Given the description of an element on the screen output the (x, y) to click on. 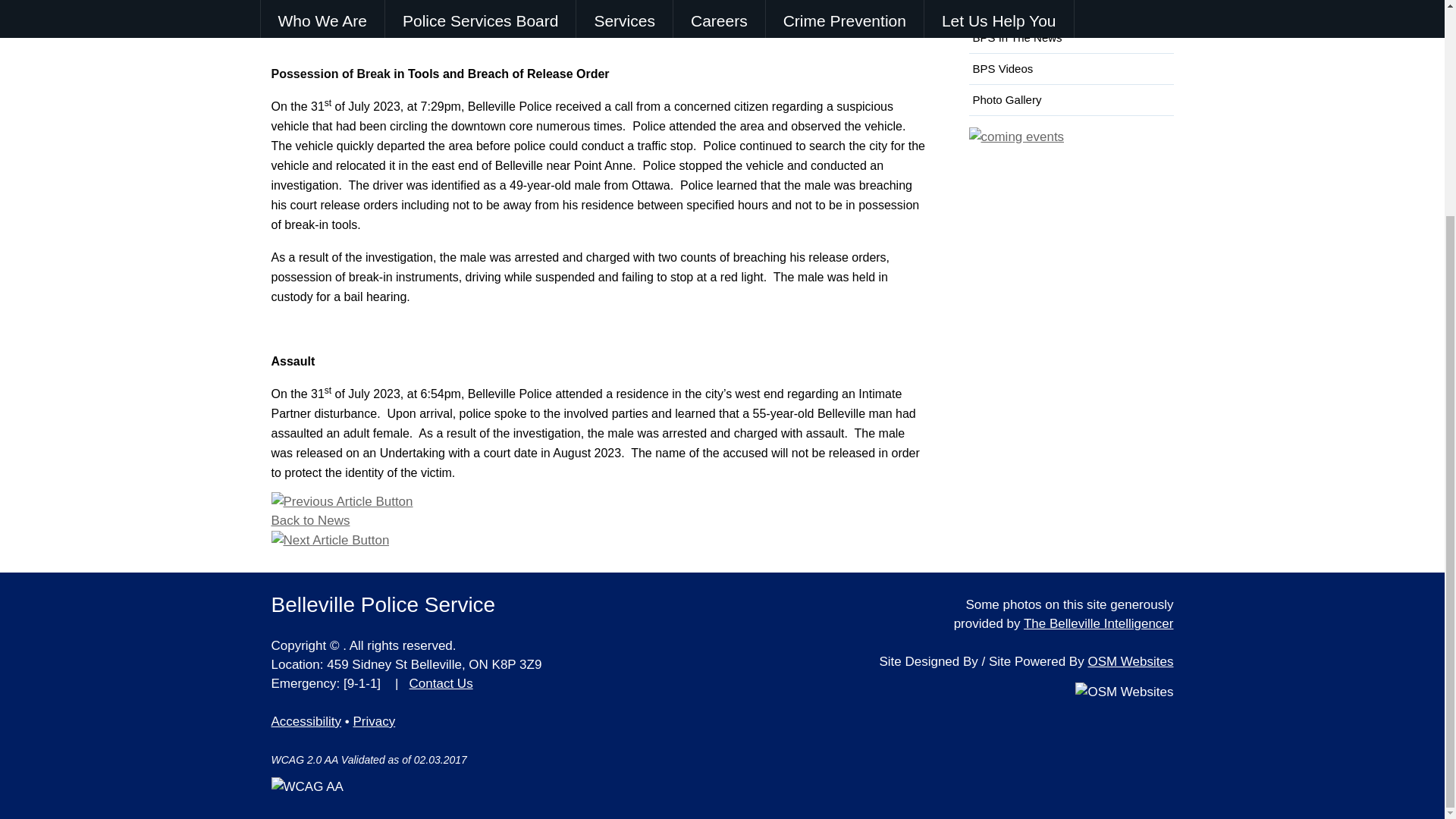
Accessibility (306, 721)
Privacy Policy (374, 721)
Contact Us (441, 683)
